Given the description of an element on the screen output the (x, y) to click on. 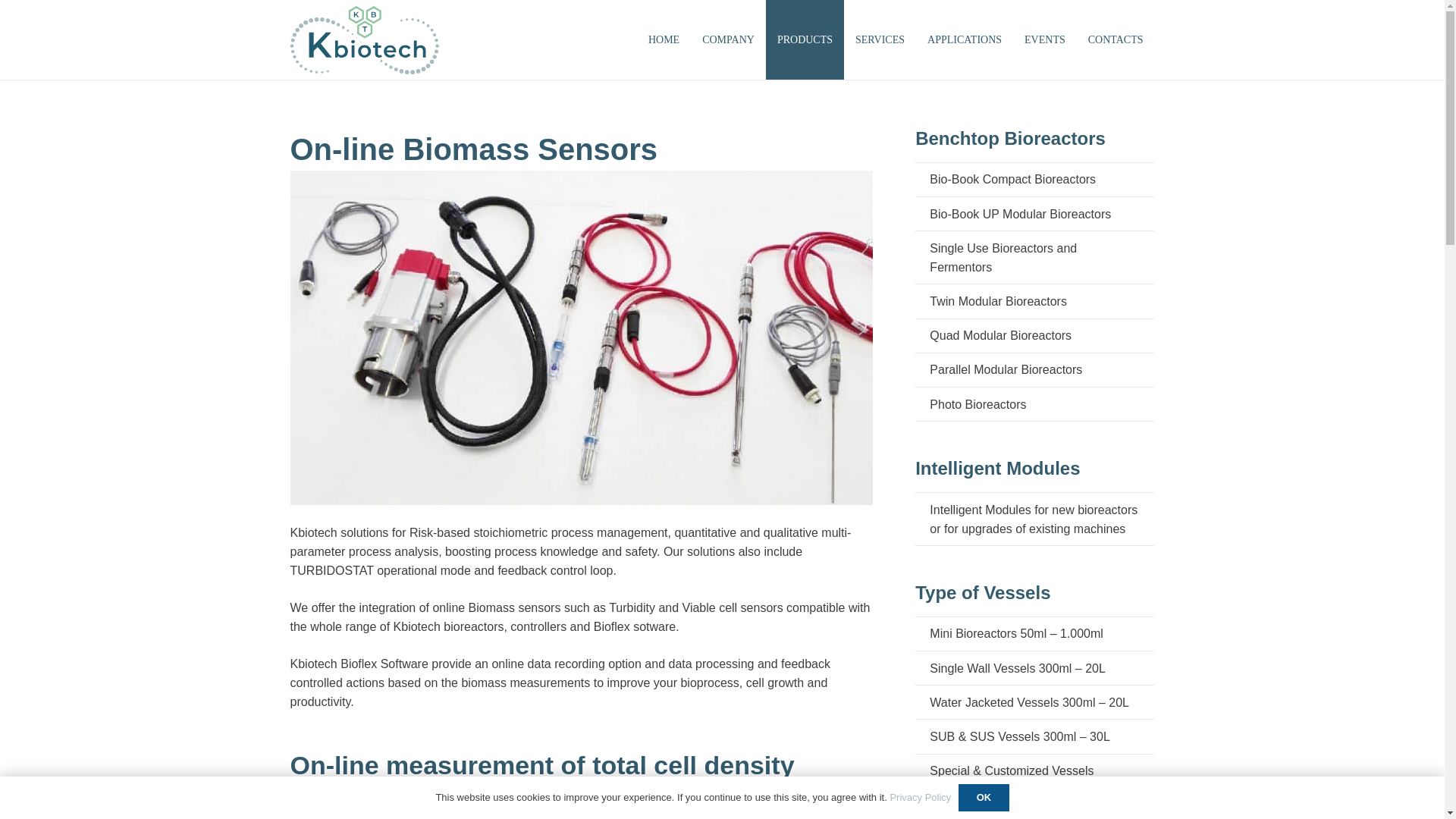
Bio-Book UP Modular Bioreactors (1034, 213)
Bio-Book Compact Bioreactors (1034, 179)
COMPANY (727, 39)
HOME (663, 39)
Single Use Bioreactors and Fermentors (1034, 256)
PRODUCTS (804, 39)
Twin Modular Bioreactors (1034, 300)
SERVICES (879, 39)
Quad Modular Bioreactors (1034, 335)
CONTACTS (1115, 39)
EVENTS (1045, 39)
APPLICATIONS (964, 39)
